Given the description of an element on the screen output the (x, y) to click on. 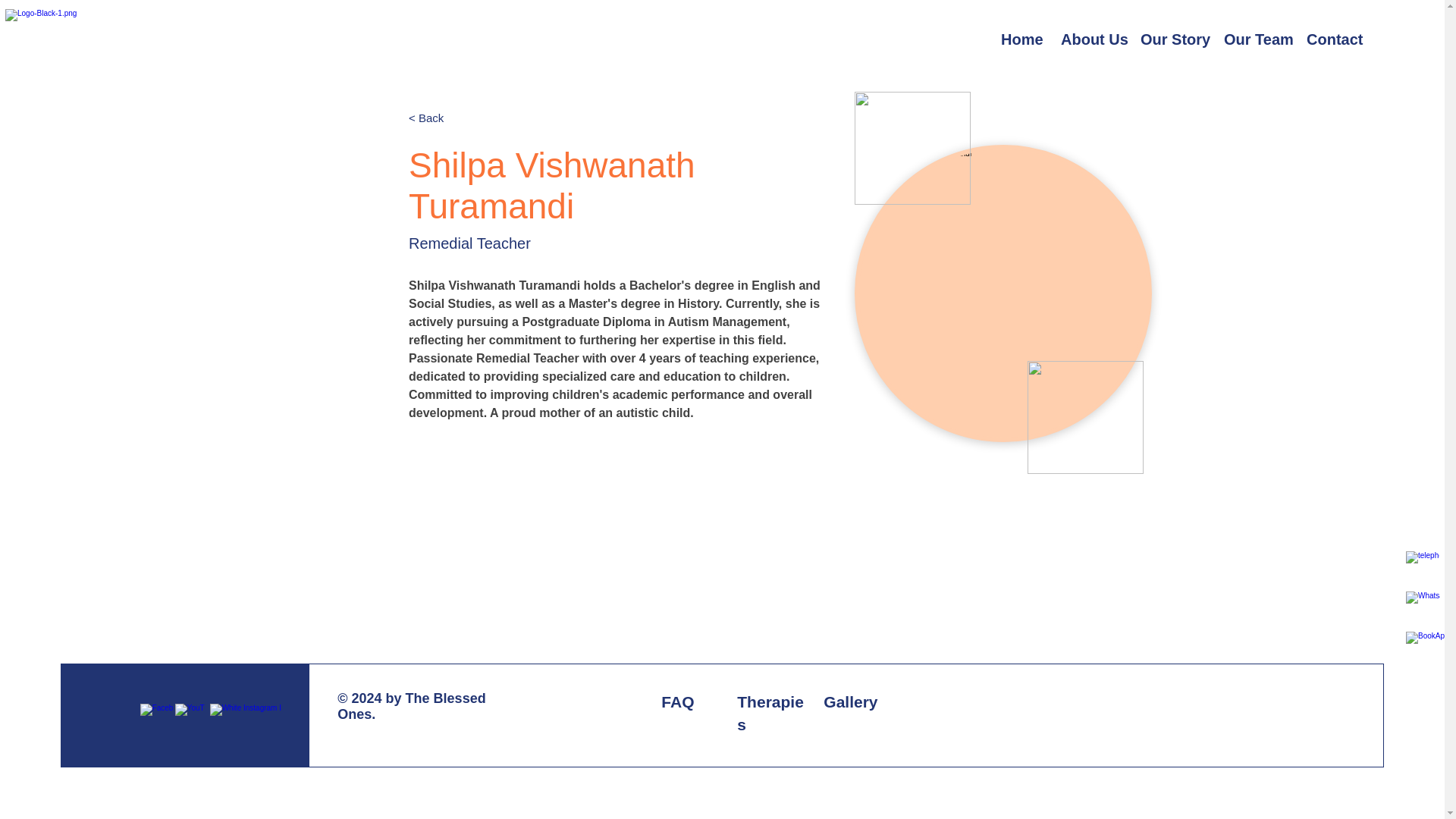
Therapies (769, 712)
Home (1019, 39)
About Us (1089, 39)
WhatsApp Image 2023-10-02 at 20.29.41.jpeg (1002, 293)
Our Team (1253, 39)
Our Story (1170, 39)
Contact (1331, 39)
Gallery (850, 701)
FAQ (677, 701)
